Given the description of an element on the screen output the (x, y) to click on. 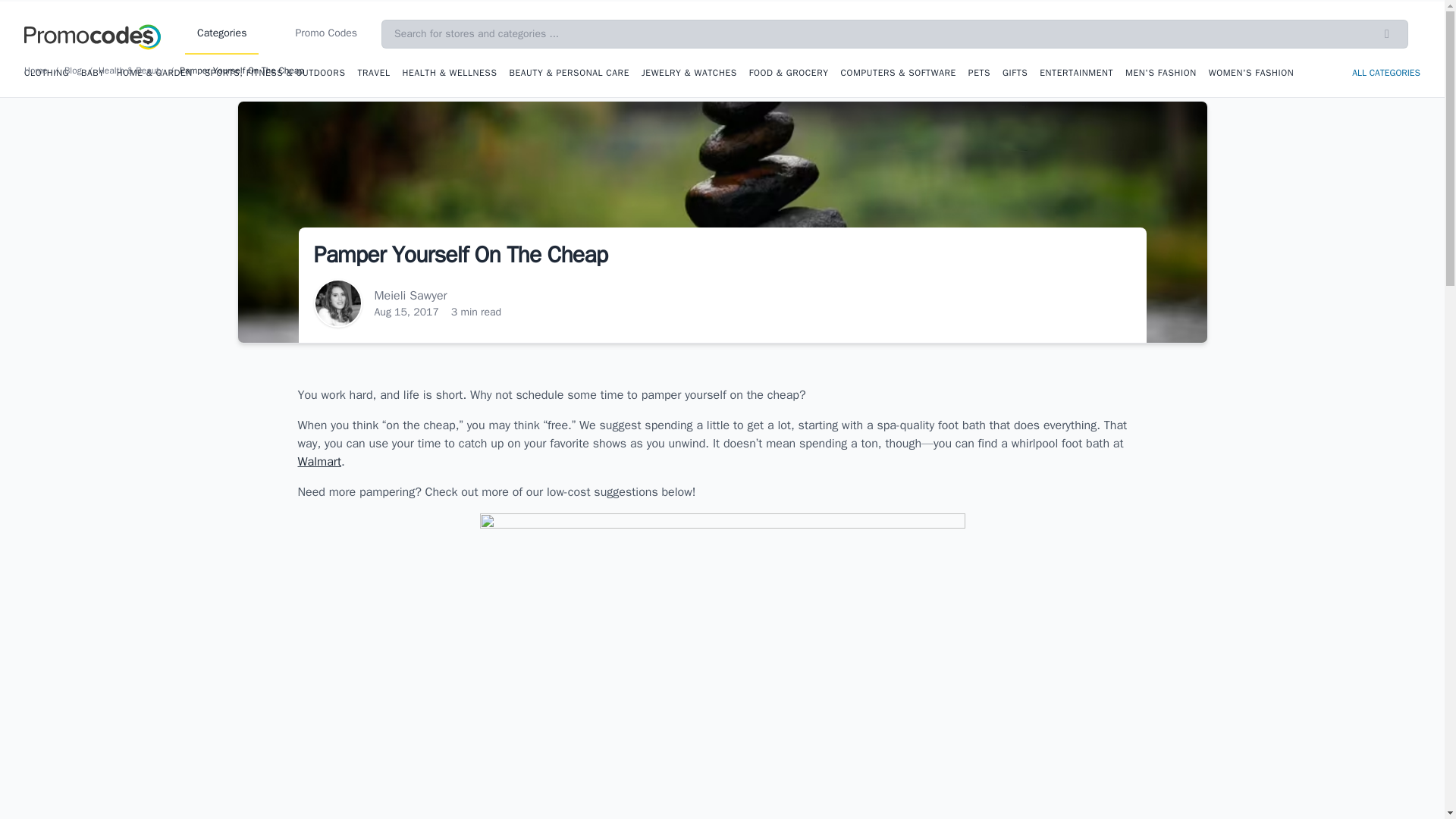
Home (38, 70)
Travel coupons (373, 72)
Baby coupons (92, 72)
TRAVEL (373, 72)
Women's Fashion coupons (1251, 72)
Gifts coupons (1015, 72)
Walmart (318, 461)
Pets coupons (979, 72)
ENTERTAINMENT (1076, 72)
Pamper Yourself On The Cheap (243, 70)
Blog (75, 70)
Search for stores and categories ... (894, 33)
CLOTHING (46, 72)
Promo Codes (325, 33)
Promocodes.com (92, 33)
